Given the description of an element on the screen output the (x, y) to click on. 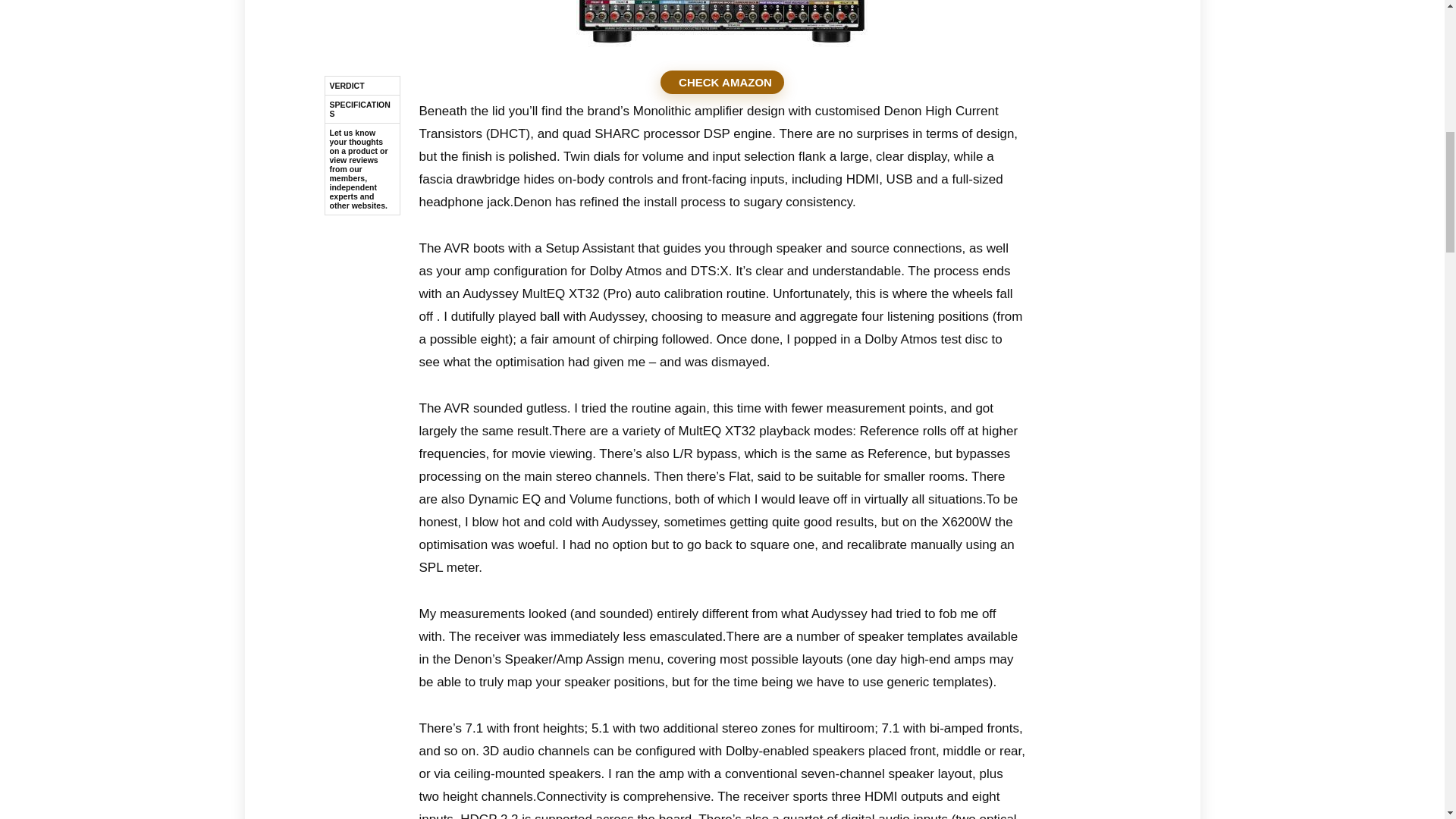
CHECK AMAZON (722, 82)
